Given the description of an element on the screen output the (x, y) to click on. 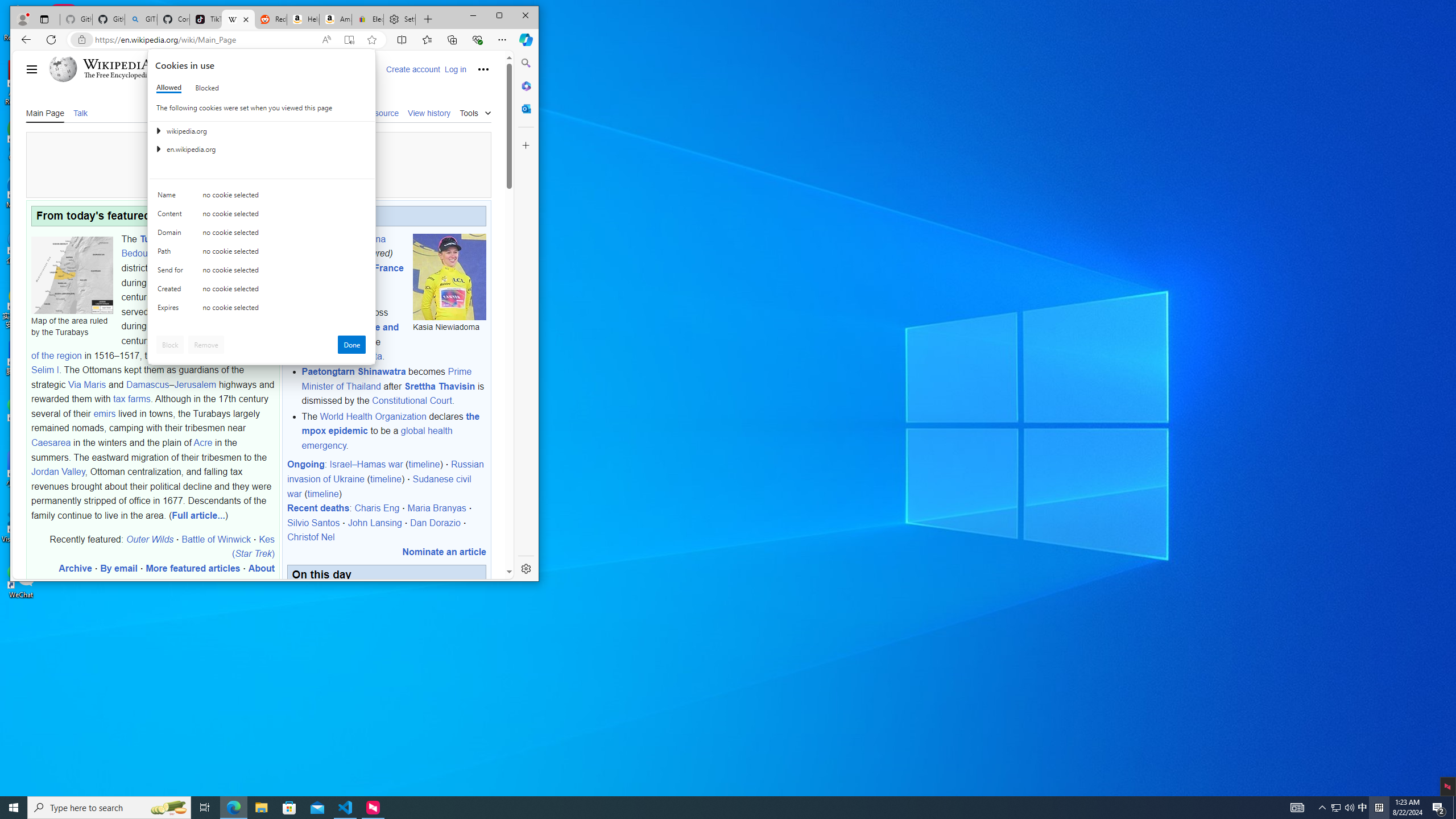
Allowed (169, 87)
Created (172, 291)
Tray Input Indicator - Chinese (Simplified, China) (1378, 807)
File Explorer (261, 807)
Block (169, 344)
Name (172, 197)
